Given the description of an element on the screen output the (x, y) to click on. 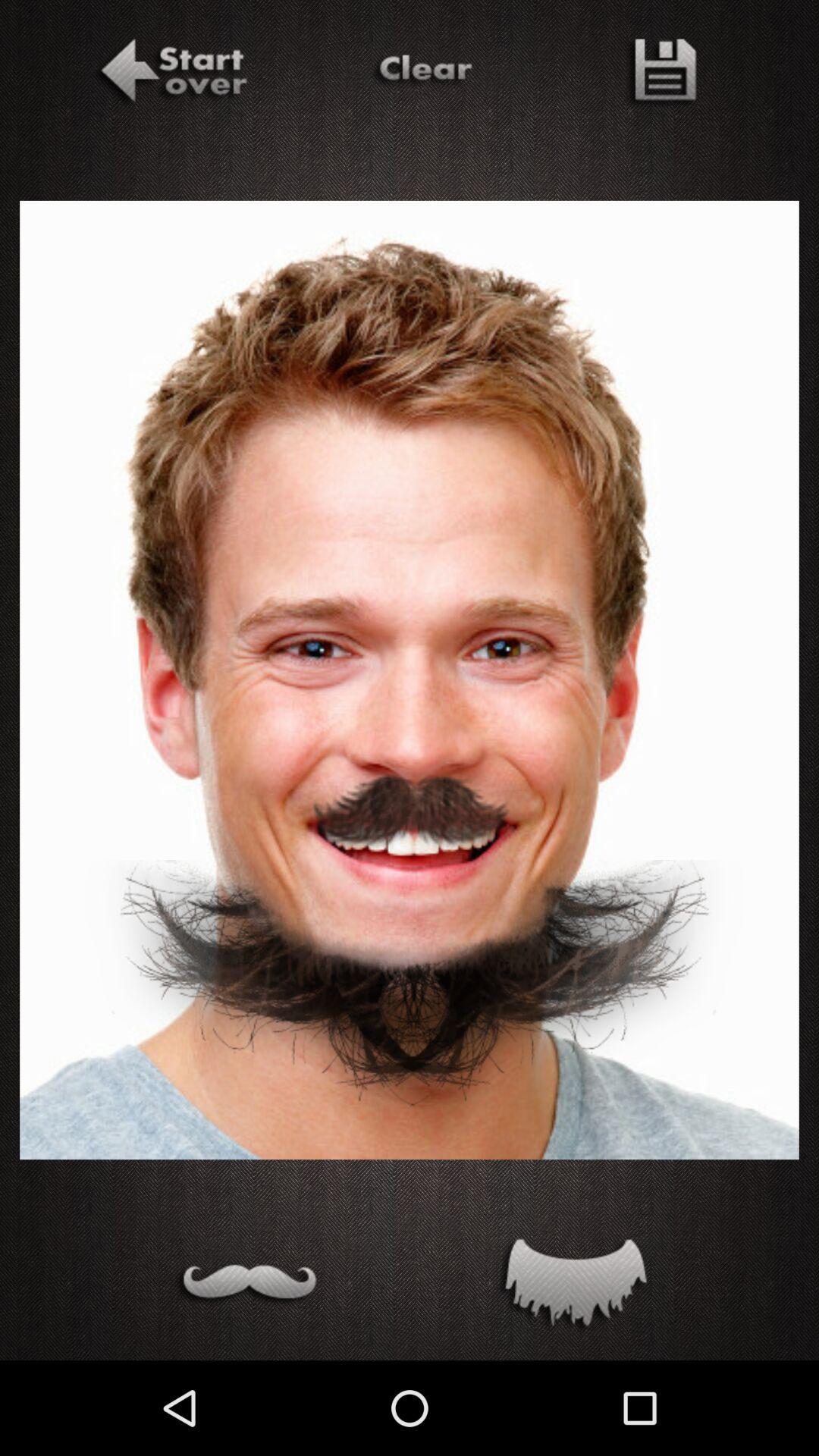
save (660, 73)
